Given the description of an element on the screen output the (x, y) to click on. 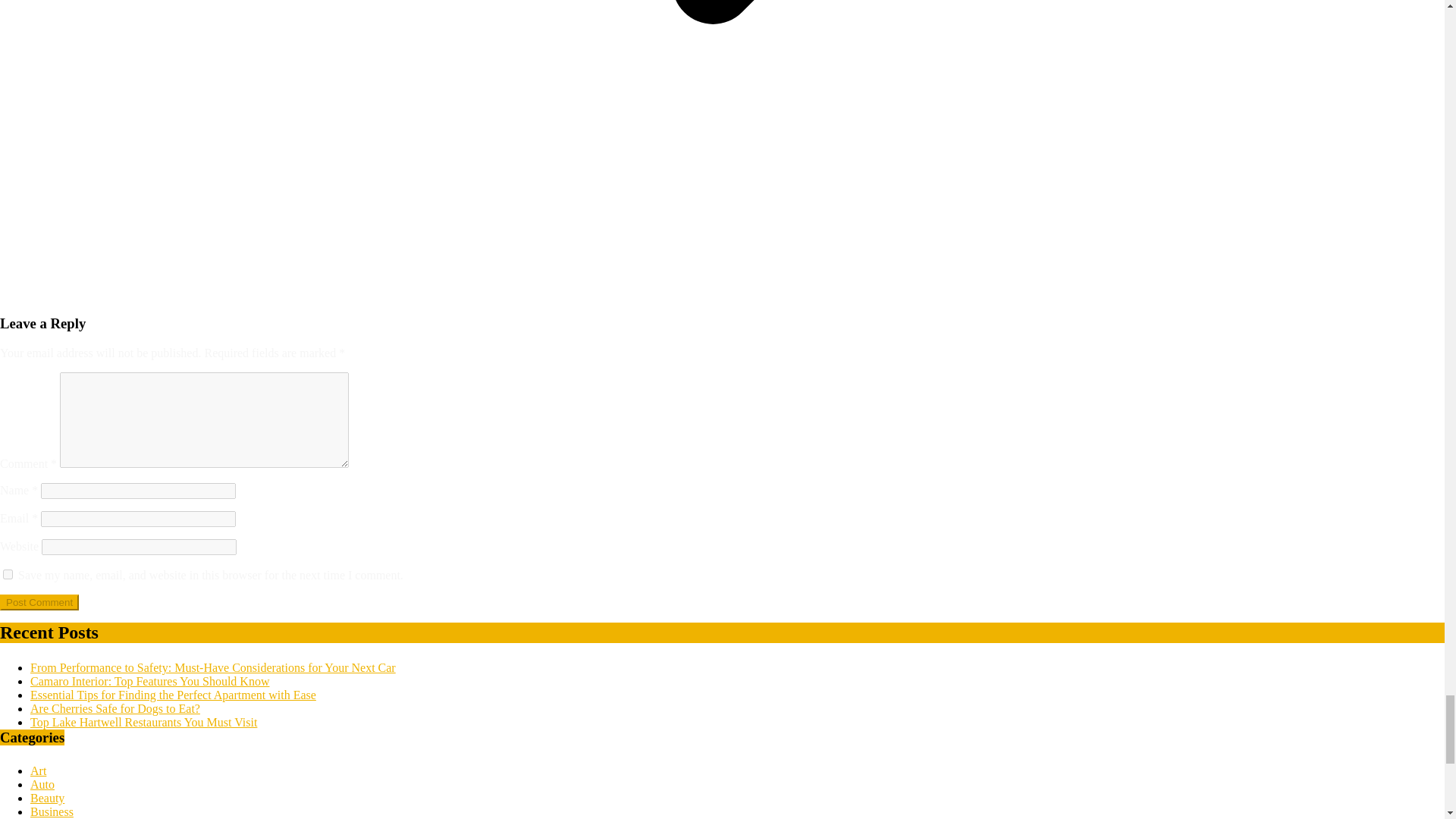
Post Comment (39, 602)
yes (7, 574)
Art (38, 770)
Essential Tips for Finding the Perfect Apartment with Ease (172, 694)
Are Cherries Safe for Dogs to Eat? (115, 707)
Auto (42, 784)
Top Lake Hartwell Restaurants You Must Visit (143, 721)
Post Comment (39, 602)
Camaro Interior: Top Features You Should Know (149, 680)
